Given the description of an element on the screen output the (x, y) to click on. 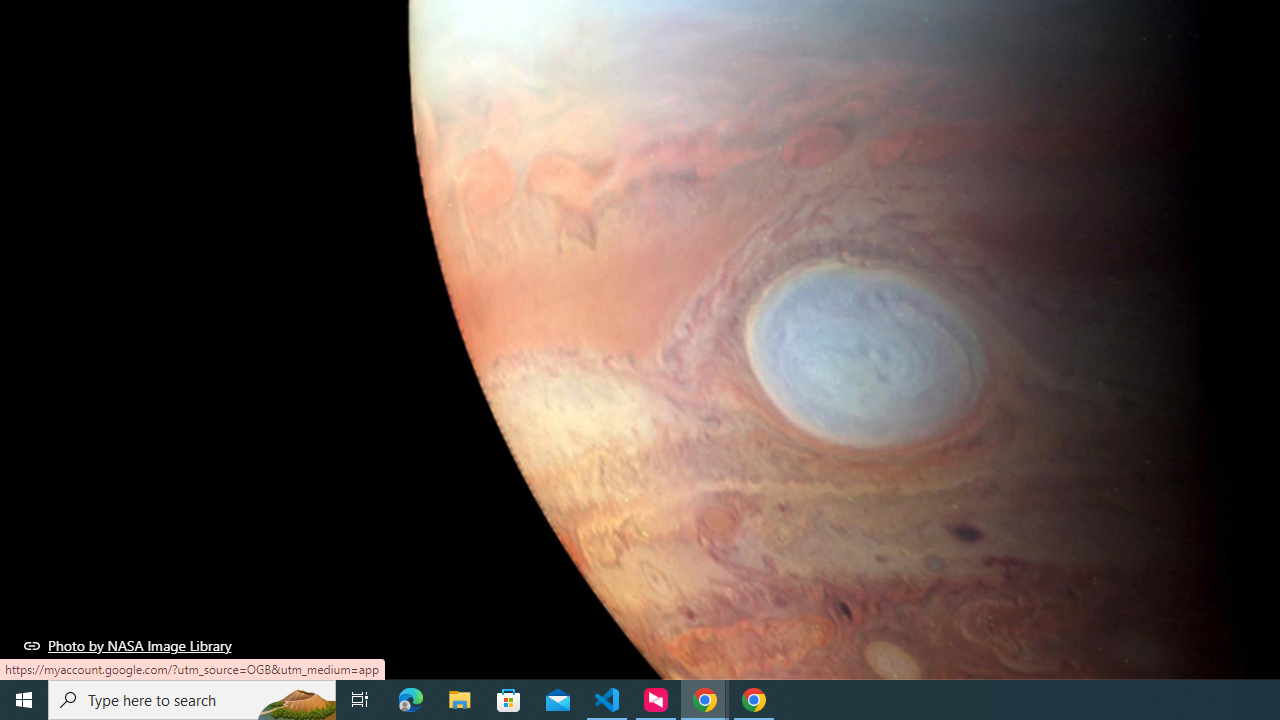
Photo by NASA Image Library (127, 645)
